Given the description of an element on the screen output the (x, y) to click on. 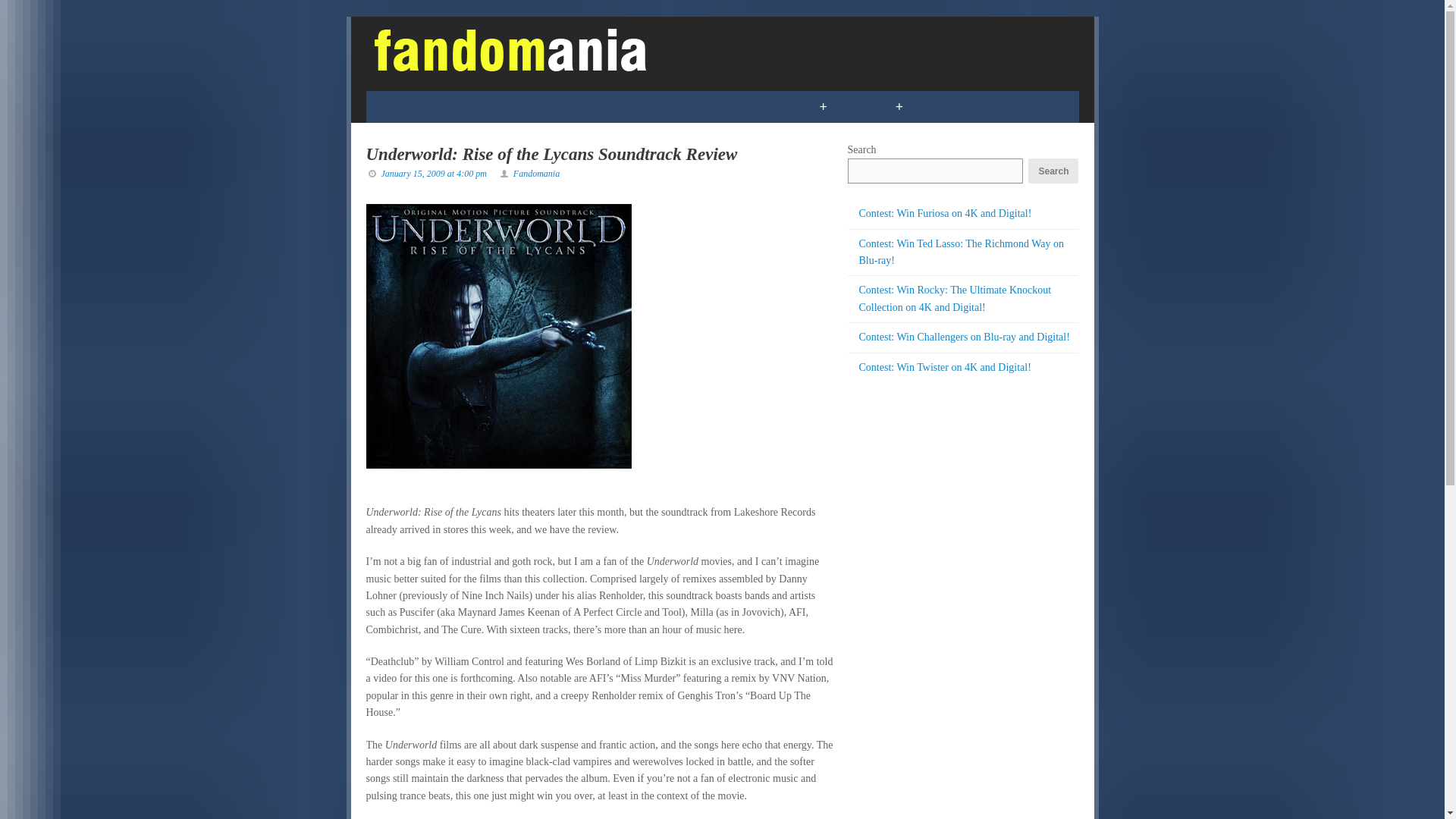
Contests (757, 106)
January 15, 2009 at 4:00 pm (433, 173)
Music (676, 106)
Posts by Fandomania (536, 173)
Underworld: Rise of the Lycans Soundtrack Review (550, 153)
TV (539, 106)
Games (478, 106)
Movies (602, 106)
Fandomania (536, 173)
About (1015, 106)
